Given the description of an element on the screen output the (x, y) to click on. 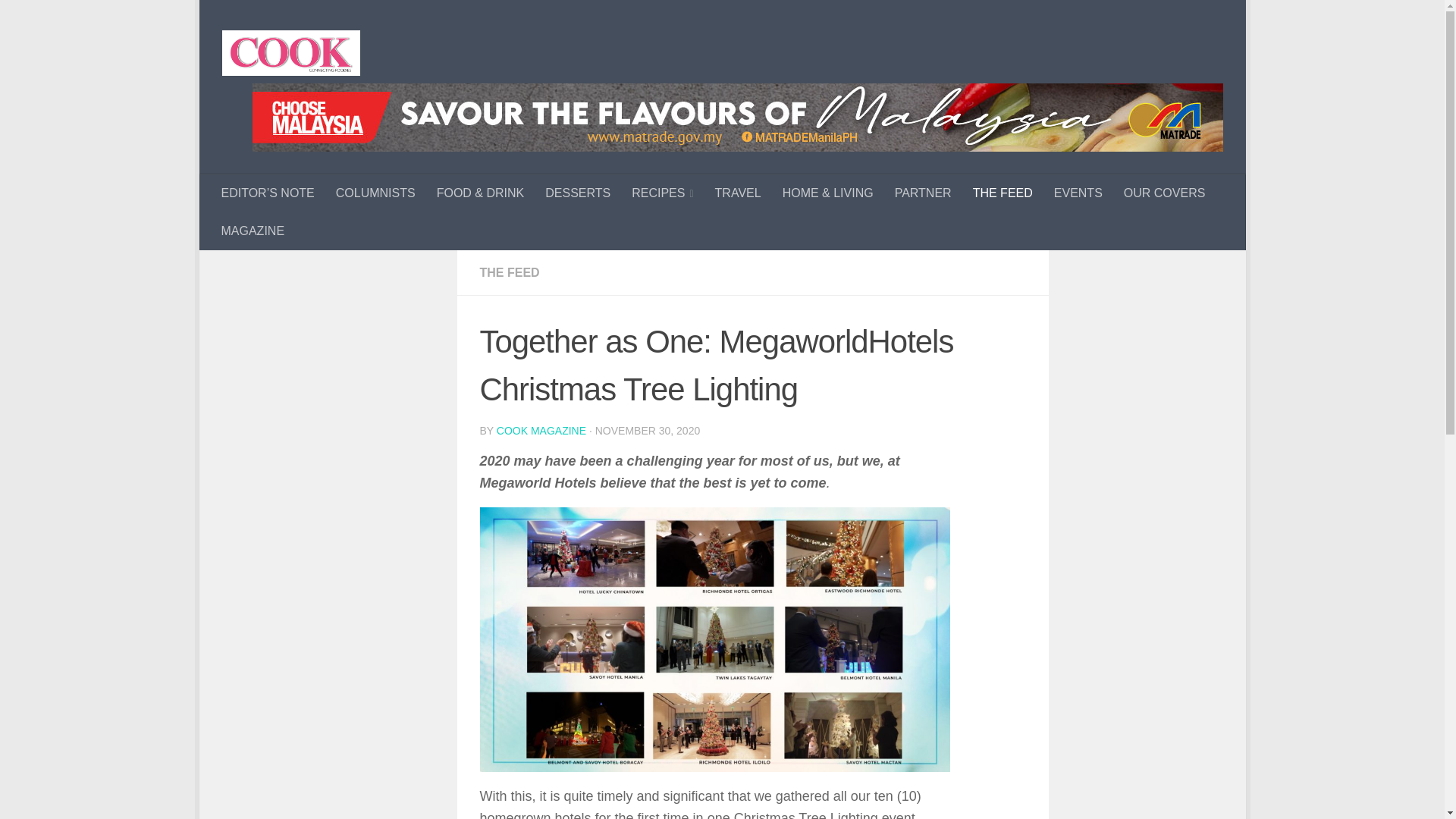
Skip to content (263, 20)
COLUMNISTS (375, 193)
Posts by Cook Magazine (541, 430)
DESSERTS (577, 193)
RECIPES (662, 193)
